Given the description of an element on the screen output the (x, y) to click on. 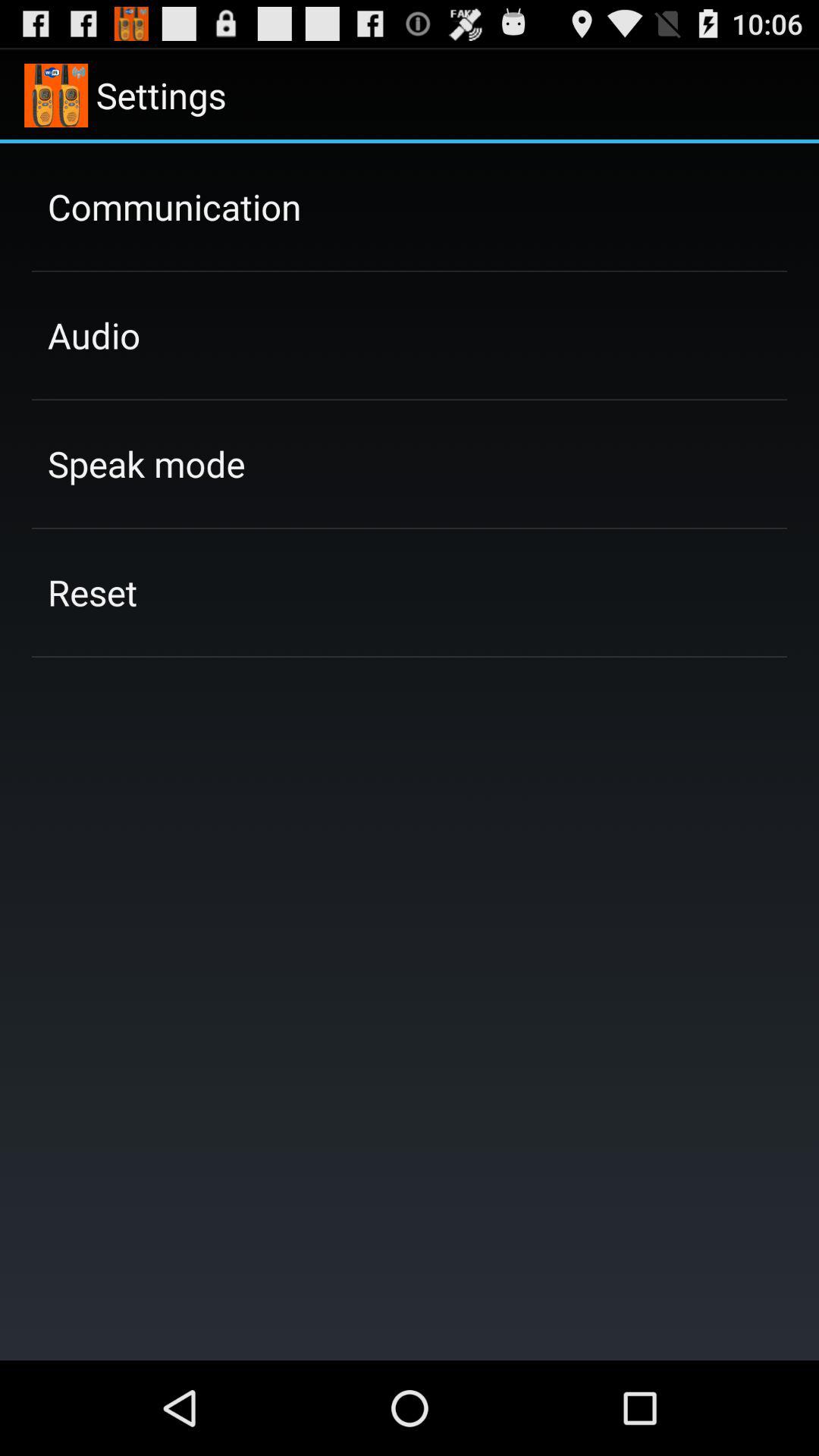
tap the audio app (93, 335)
